Given the description of an element on the screen output the (x, y) to click on. 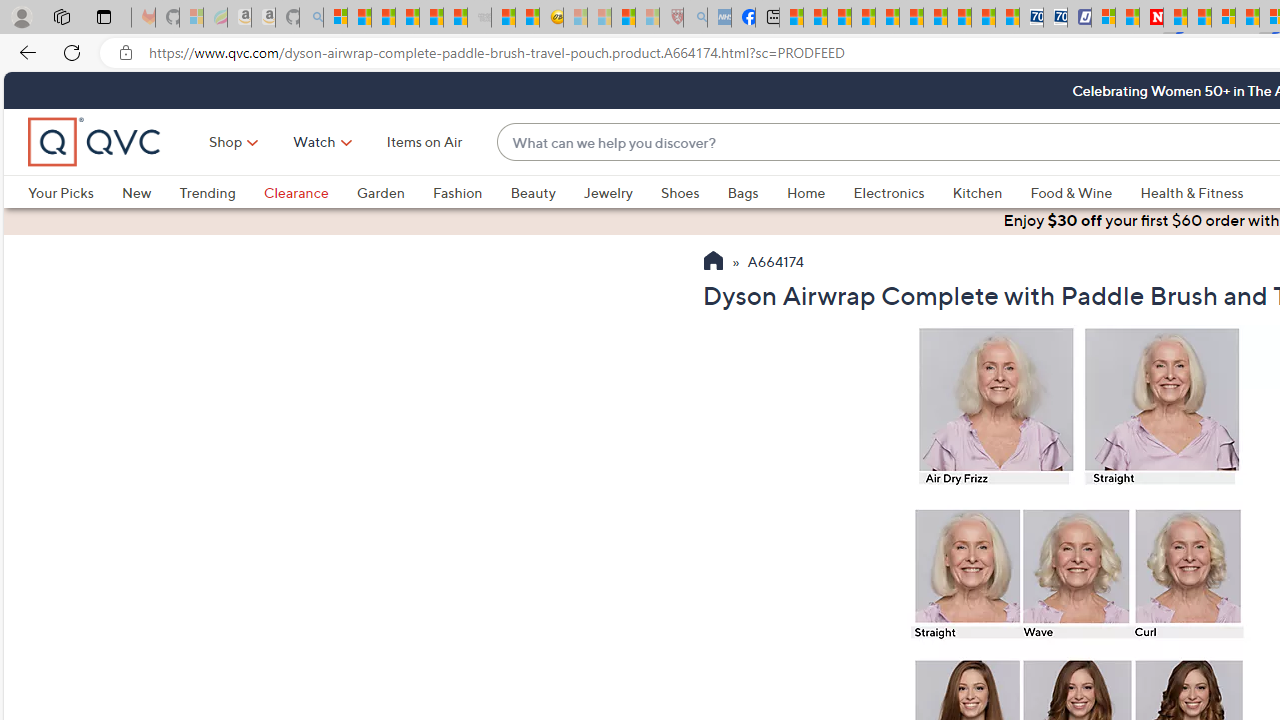
Return to QVC Homepage (712, 263)
Fashion (457, 192)
Garden (393, 192)
Bags (743, 192)
Food & Wine (1085, 192)
QVC home (95, 141)
Kitchen (991, 192)
12 Popular Science Lies that Must be Corrected - Sleeping (647, 17)
